Given the description of an element on the screen output the (x, y) to click on. 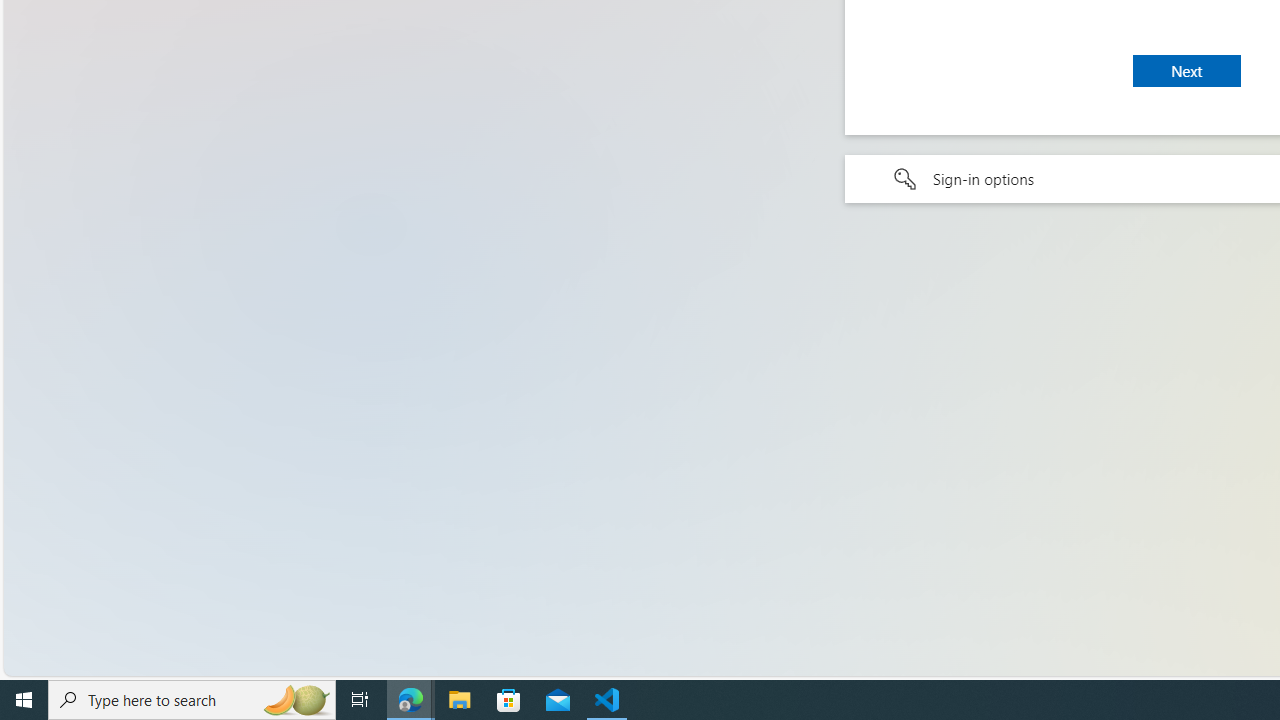
Next (1186, 70)
